Given the description of an element on the screen output the (x, y) to click on. 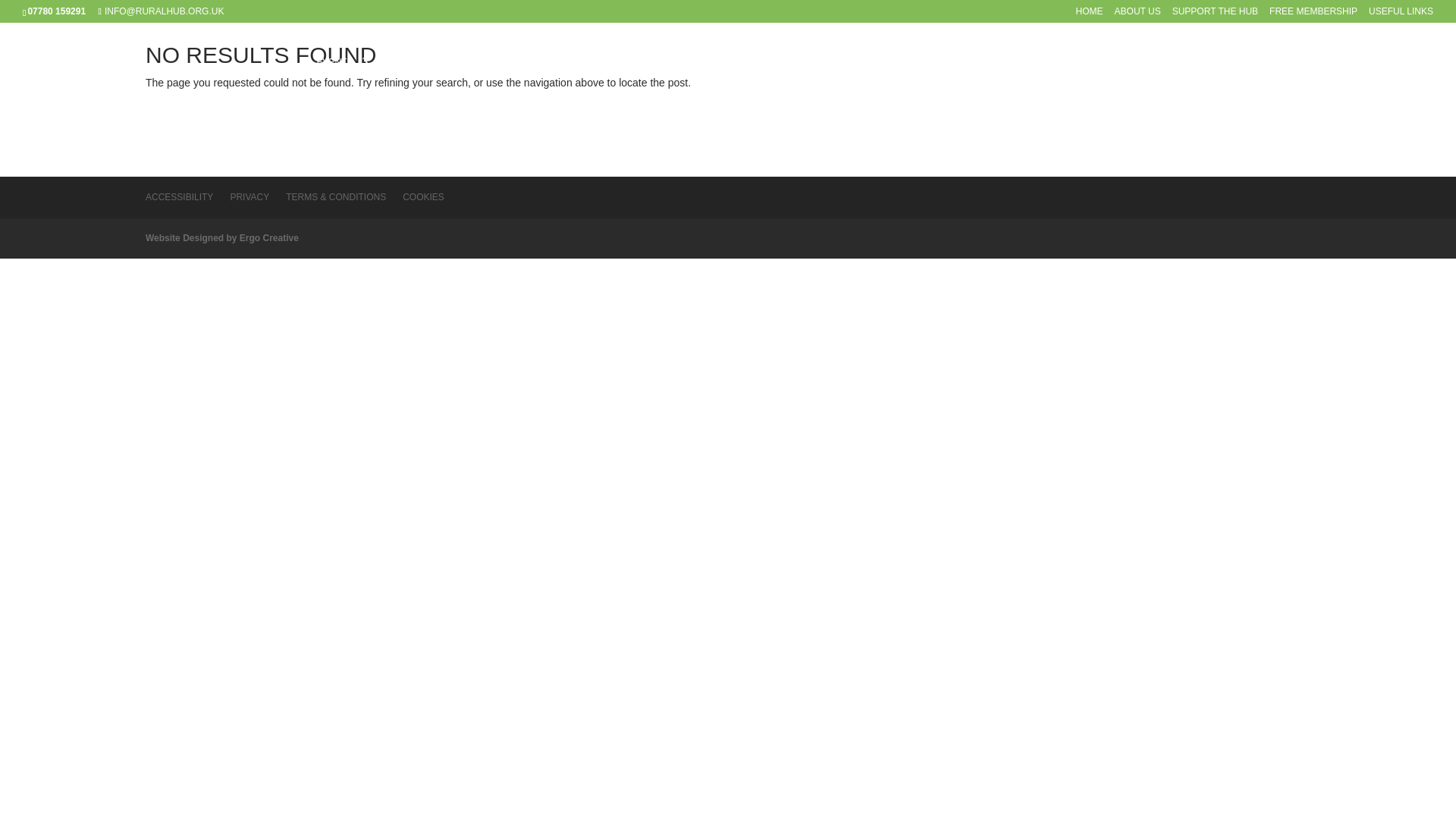
LEGAL ADVICE ARTICLES (1345, 78)
COOKIES (423, 196)
2024 CONFERENCE (901, 78)
NOTICEBOARD (993, 78)
HEALTH AND WELLBEING (785, 78)
INDUSTRY NEWS (529, 78)
HOME (1089, 14)
HUB SUPPORTERS (1087, 78)
RURAL HUB NEWS (424, 78)
ABOUT US (1137, 14)
